Given the description of an element on the screen output the (x, y) to click on. 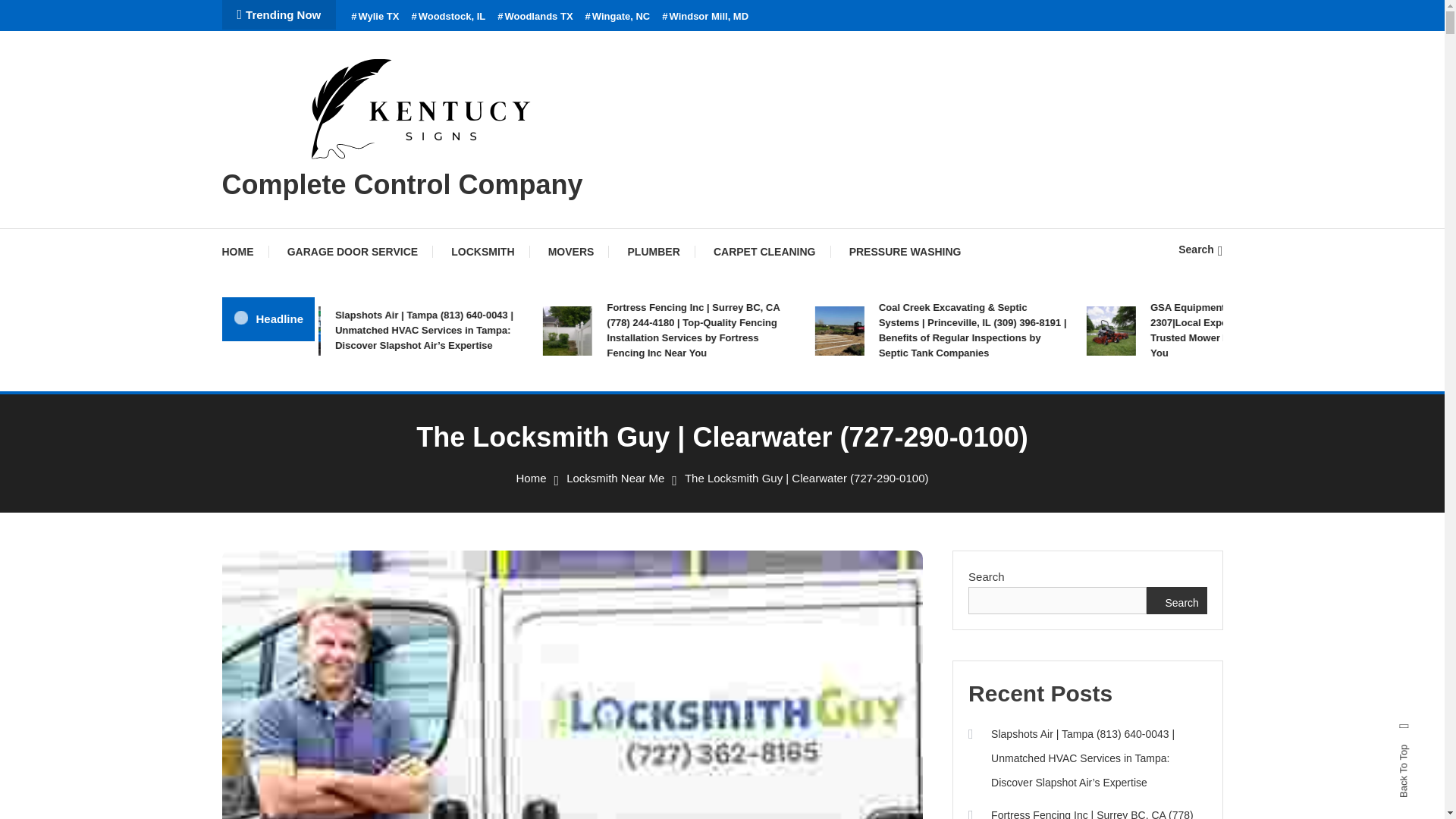
Woodstock, IL (447, 16)
GARAGE DOOR SERVICE (352, 251)
PRESSURE WASHING (905, 251)
LOCKSMITH (482, 251)
Search (768, 434)
Wylie TX (374, 16)
Home (531, 477)
Search (1200, 249)
Complete Control Company (401, 183)
HOME (244, 251)
CARPET CLEANING (764, 251)
Windsor Mill, MD (705, 16)
Locksmith Near Me (614, 477)
Woodlands TX (534, 16)
MOVERS (571, 251)
